Given the description of an element on the screen output the (x, y) to click on. 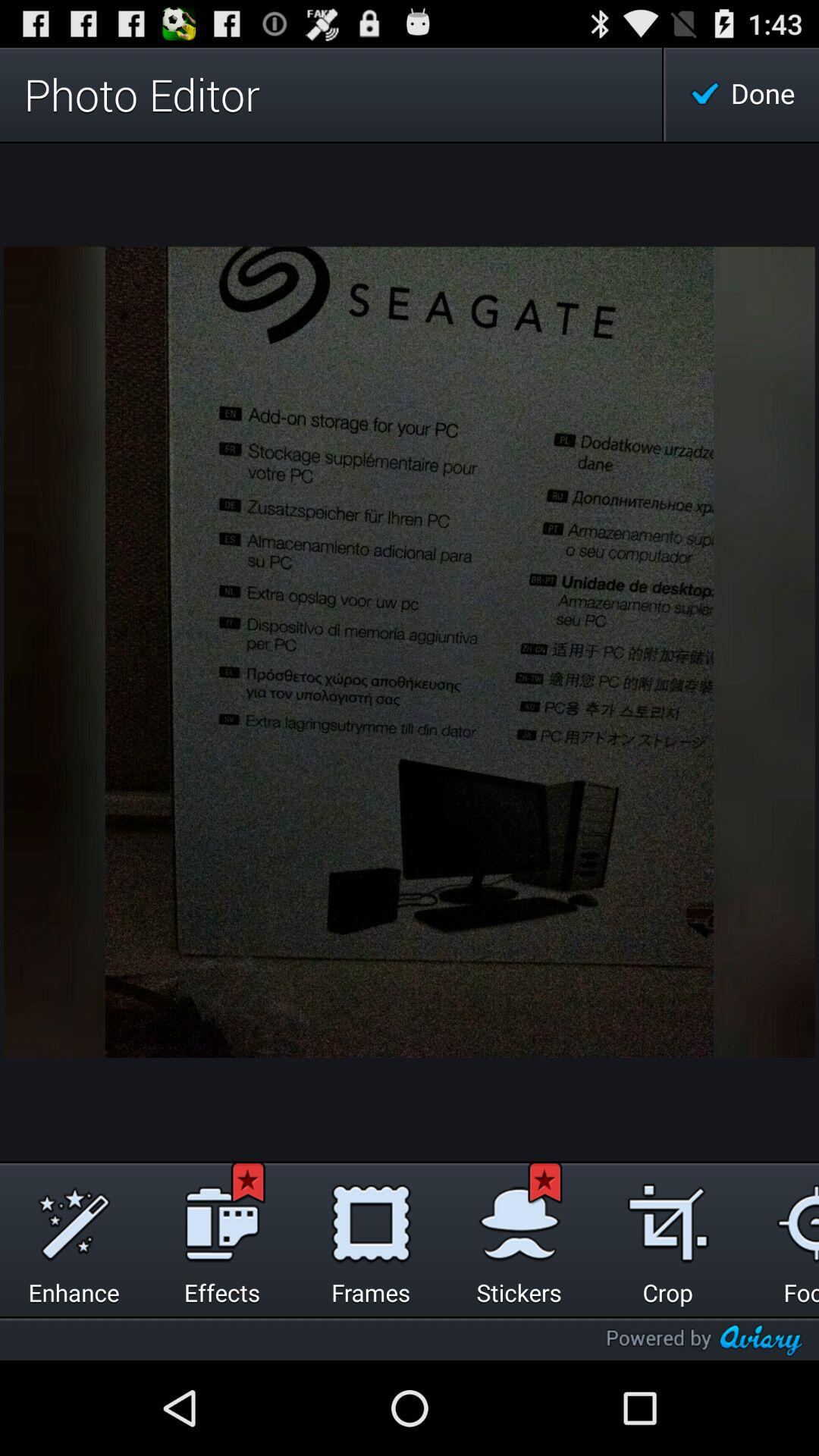
turn off the done (742, 93)
